Given the description of an element on the screen output the (x, y) to click on. 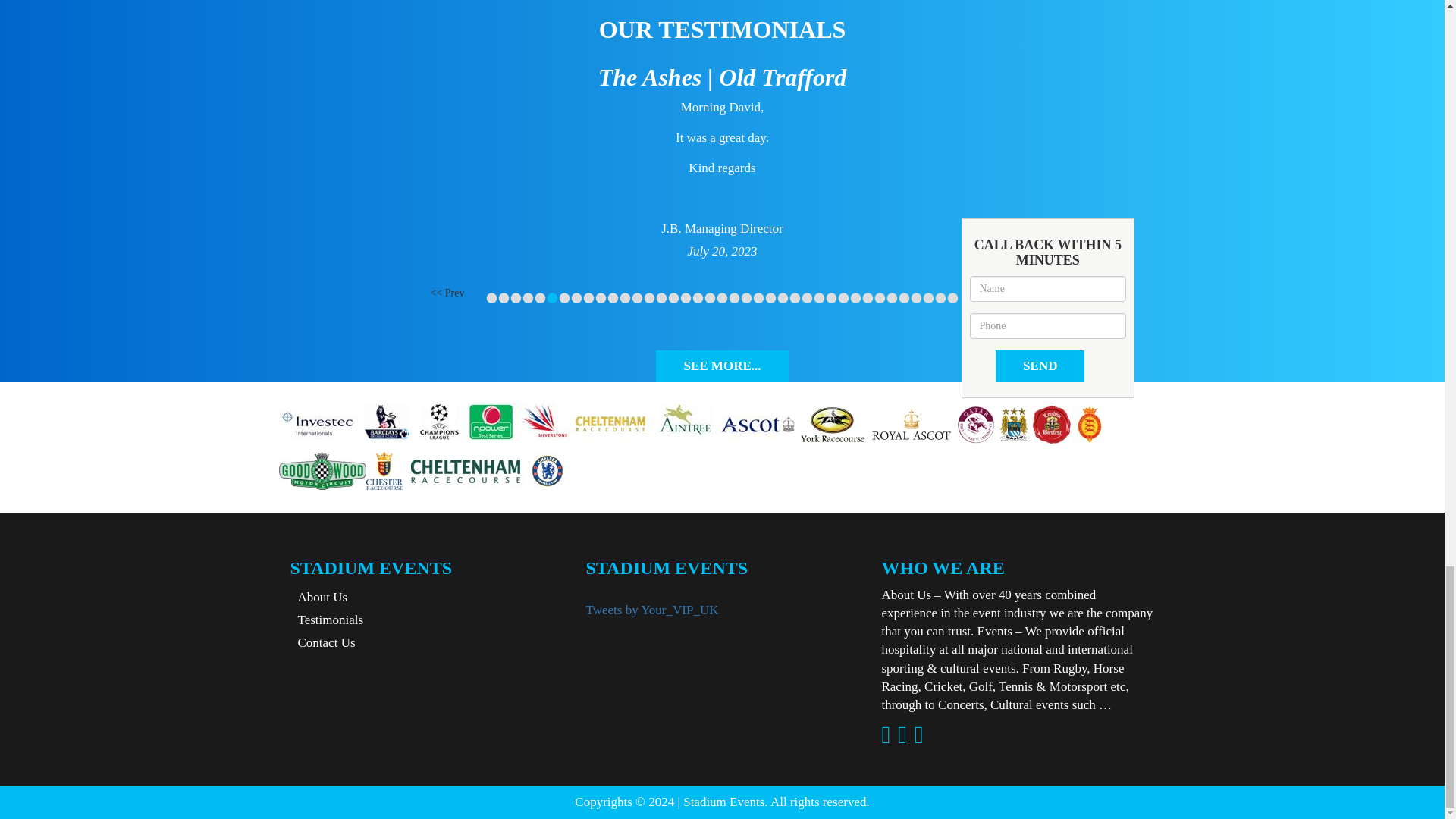
Contact Us (322, 642)
SEE MORE... (721, 366)
Testimonials (325, 619)
About Us (318, 596)
